Given the description of an element on the screen output the (x, y) to click on. 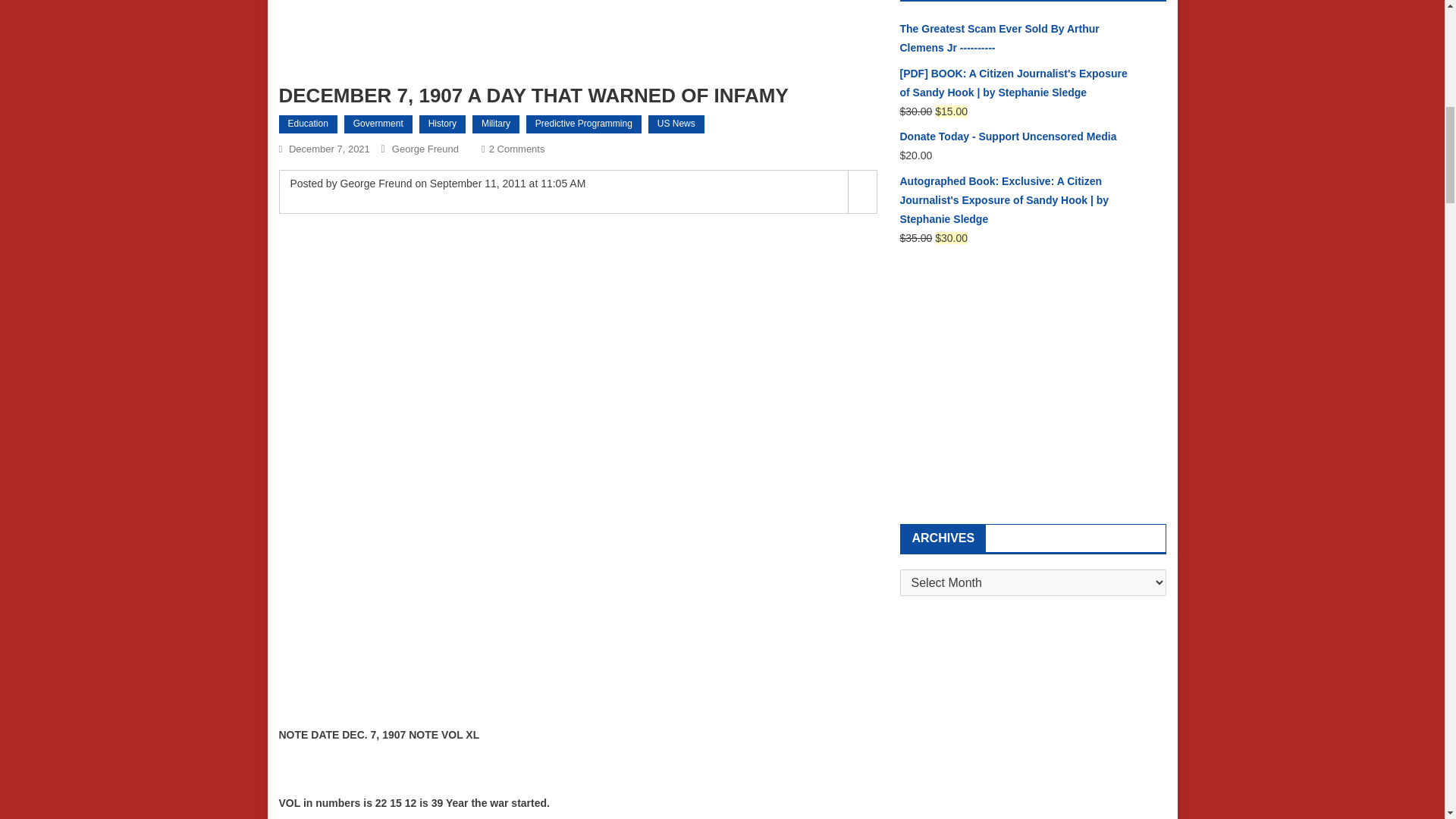
December 7, 2021 (328, 148)
George Freund (424, 148)
US News (675, 124)
Education (308, 124)
History (442, 124)
Military (495, 124)
Predictive Programming (516, 148)
Government (583, 124)
